Given the description of an element on the screen output the (x, y) to click on. 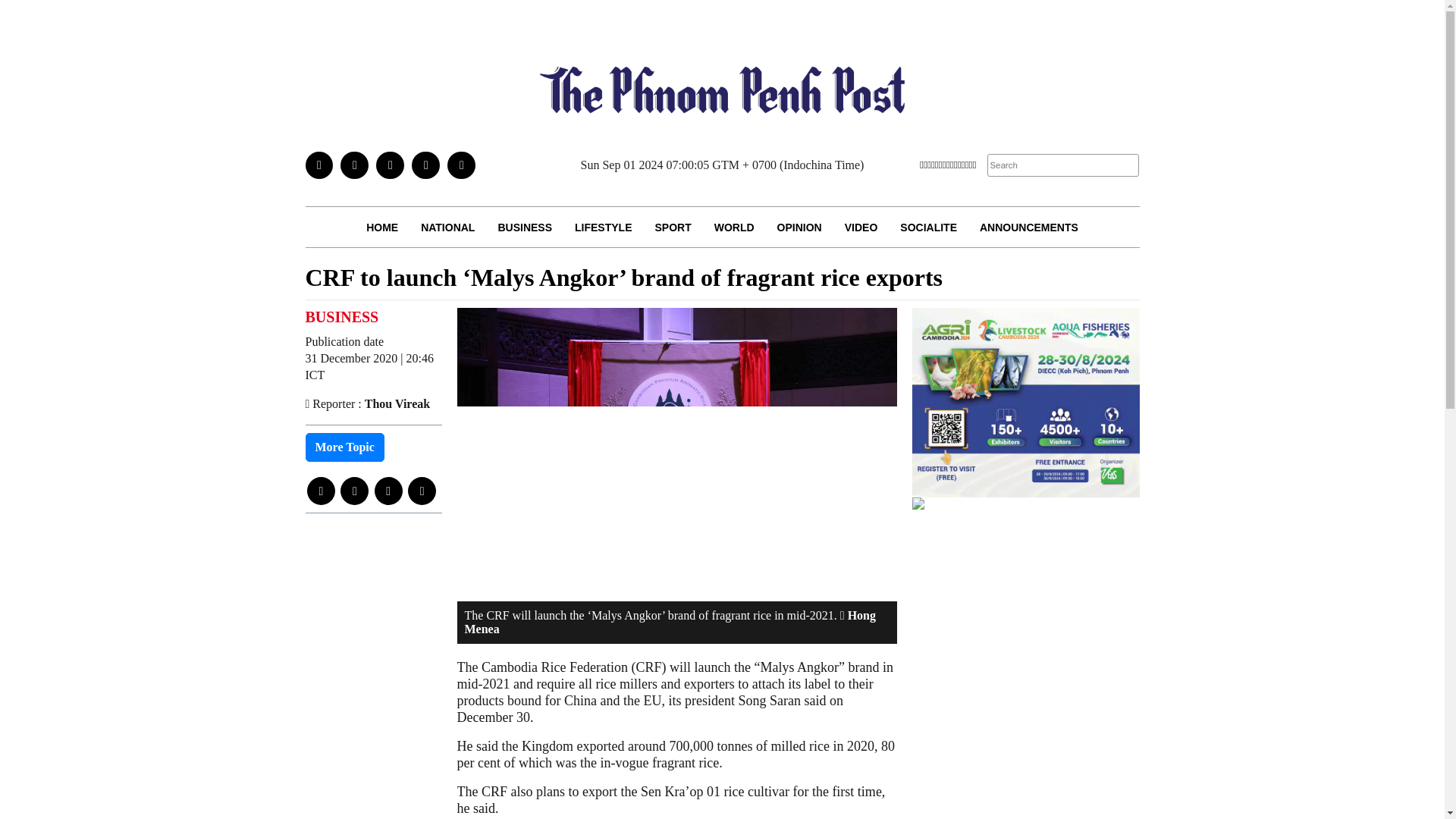
SPORT (672, 227)
OPINION (798, 227)
LIFESTYLE (603, 227)
More Topic (344, 447)
NATIONAL (447, 227)
HOME (382, 227)
BUSINESS (524, 227)
WORLD (734, 227)
SOCIALITE (928, 227)
ANNOUNCEMENTS (1028, 227)
